Given the description of an element on the screen output the (x, y) to click on. 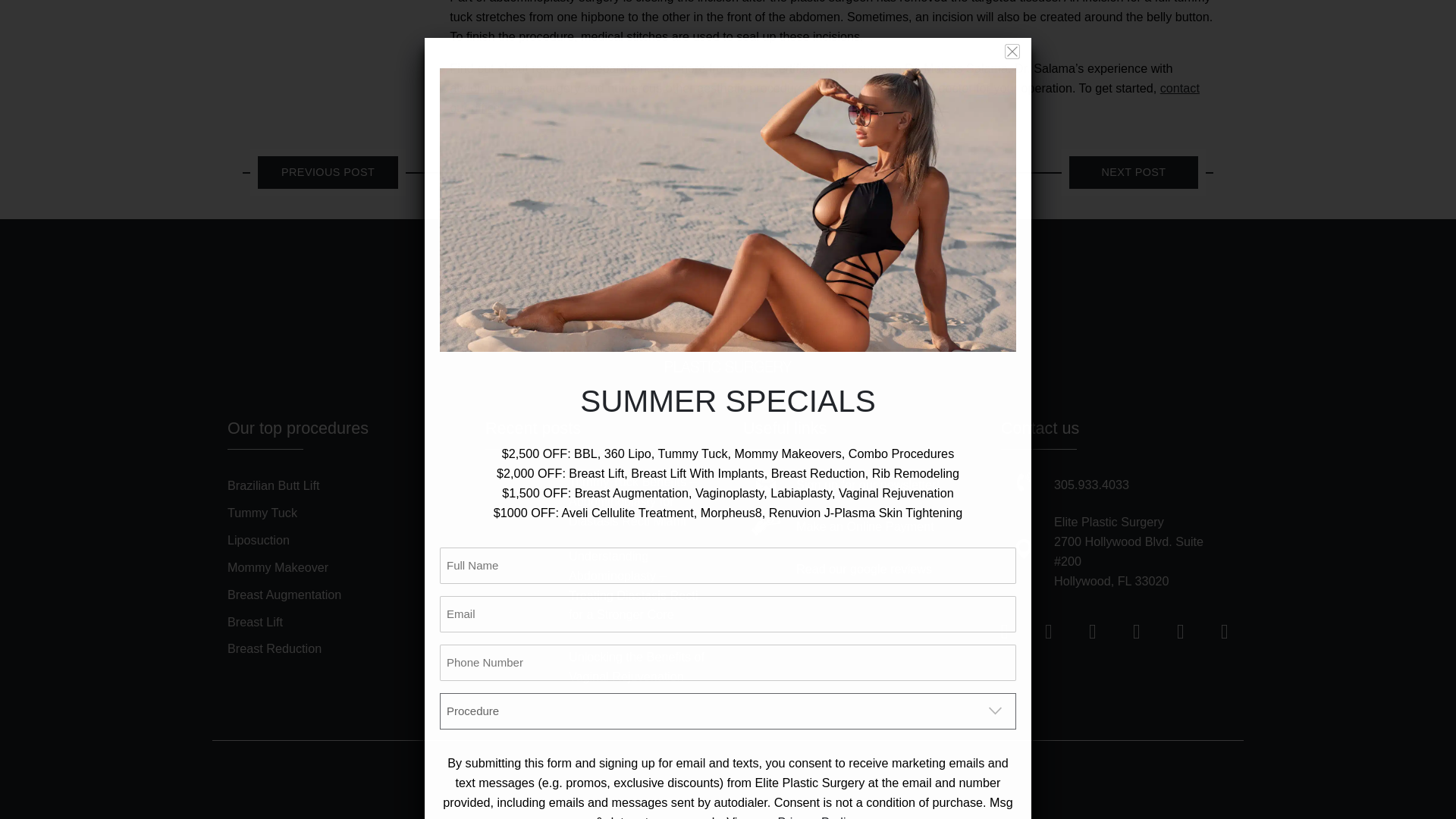
Contact (934, 763)
Tummy Tuck Miami (492, 88)
Sitemap (887, 763)
